Given the description of an element on the screen output the (x, y) to click on. 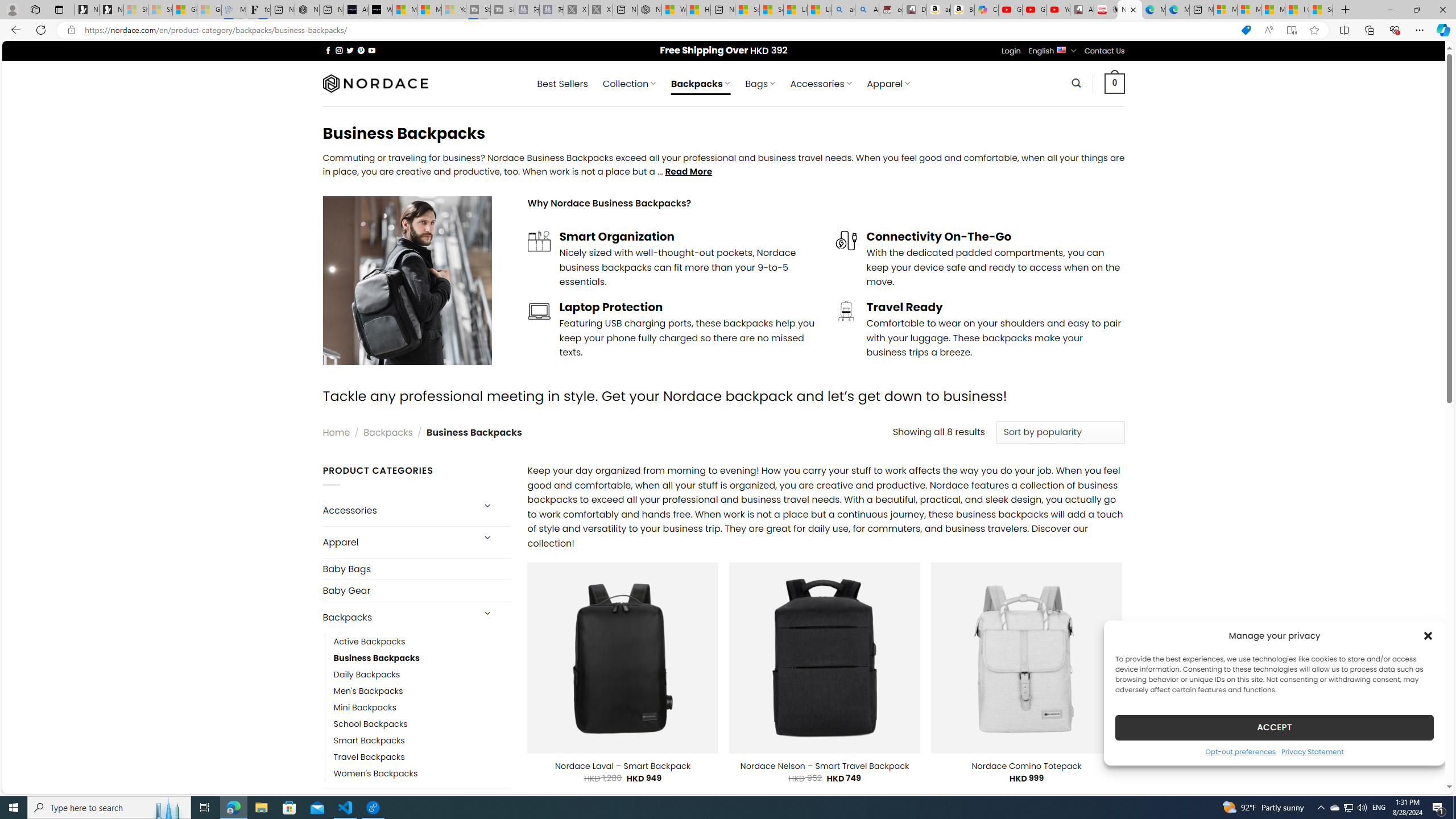
School Backpacks (422, 723)
Smart Backpacks (368, 740)
This site has coupons! Shopping in Microsoft Edge (1245, 29)
Nordace Comino Totepack (1026, 766)
Opt-out preferences (1240, 750)
